Given the description of an element on the screen output the (x, y) to click on. 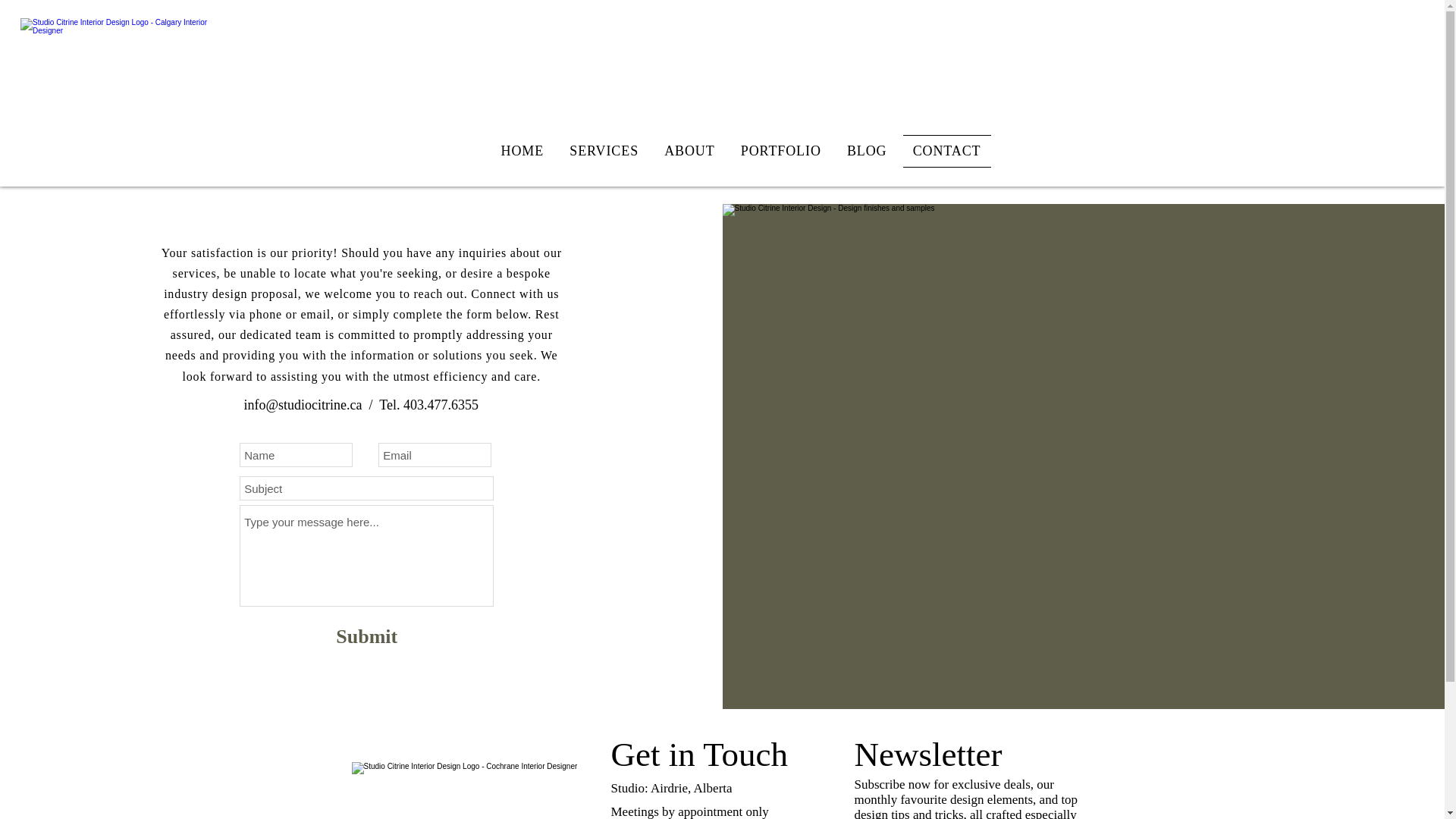
SERVICES (603, 151)
Studio Citrine Interior Design Logo (474, 790)
ABOUT (689, 151)
CONTACT (946, 151)
BLOG (866, 151)
PORTFOLIO (780, 151)
Submit (366, 637)
HOME (523, 151)
Studio Citrine Interior Design Logo (118, 92)
